Given the description of an element on the screen output the (x, y) to click on. 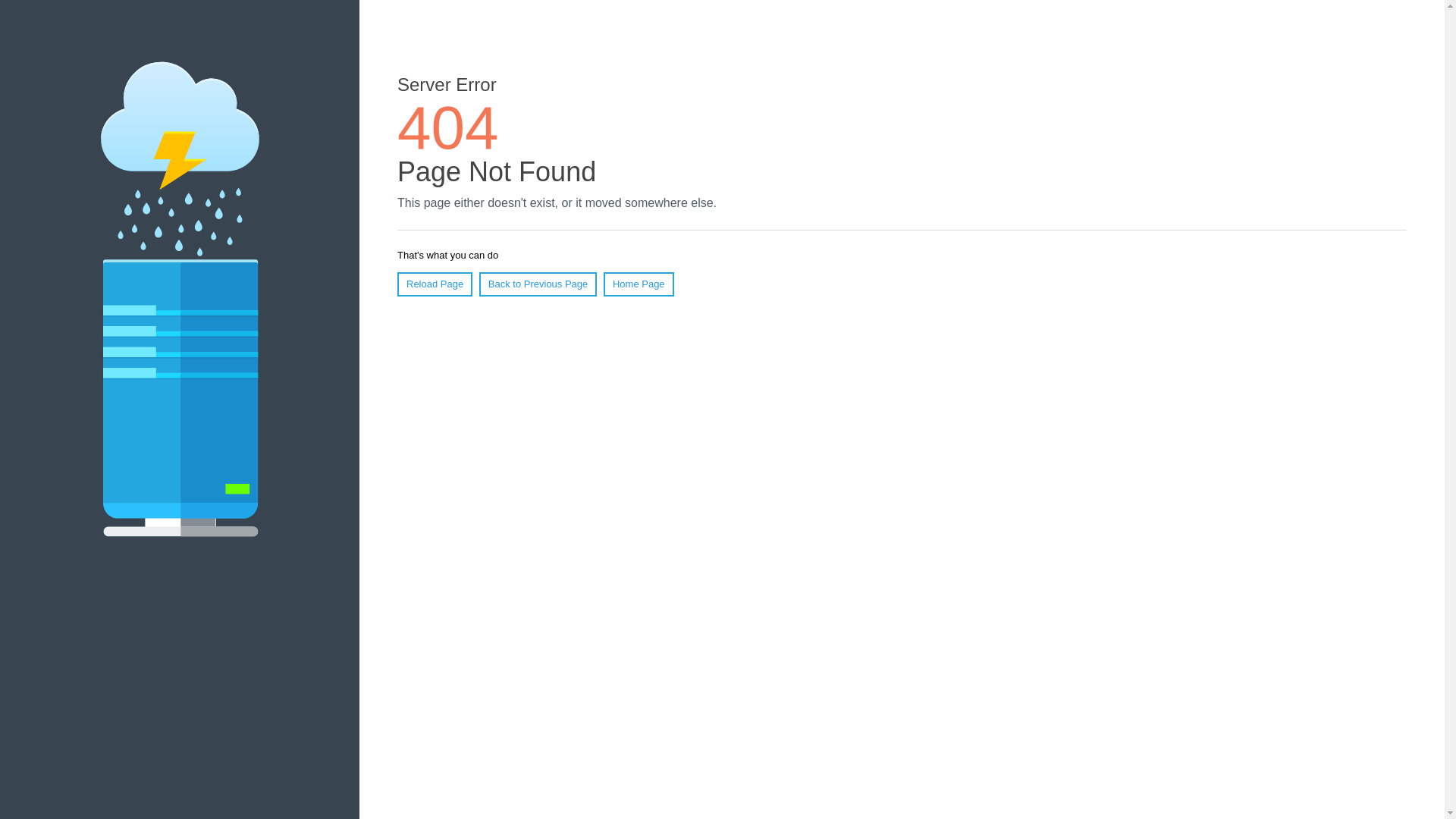
Back to Previous Page Element type: text (538, 284)
Reload Page Element type: text (434, 284)
Home Page Element type: text (638, 284)
